Given the description of an element on the screen output the (x, y) to click on. 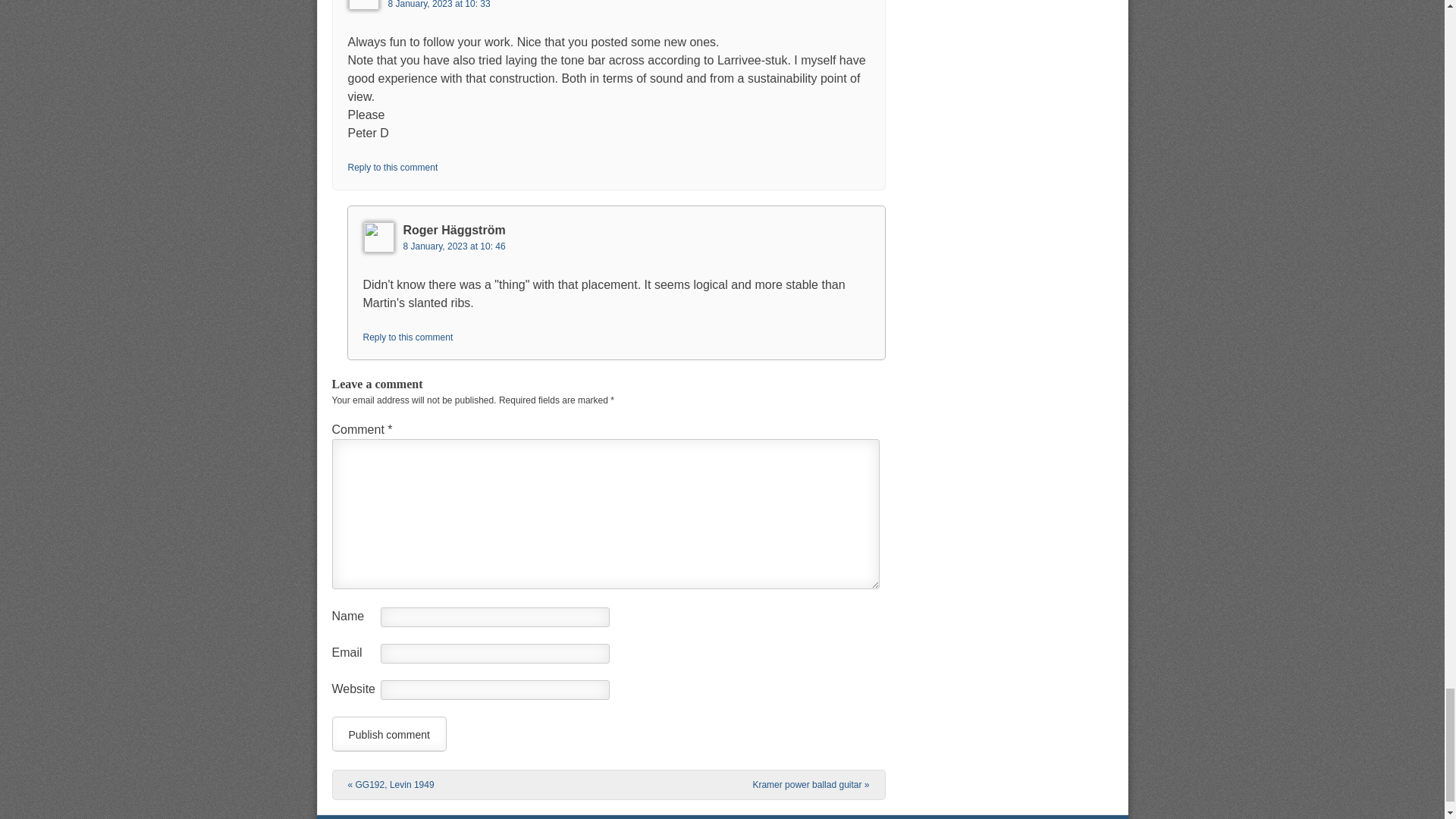
Publish comment (388, 733)
